Given the description of an element on the screen output the (x, y) to click on. 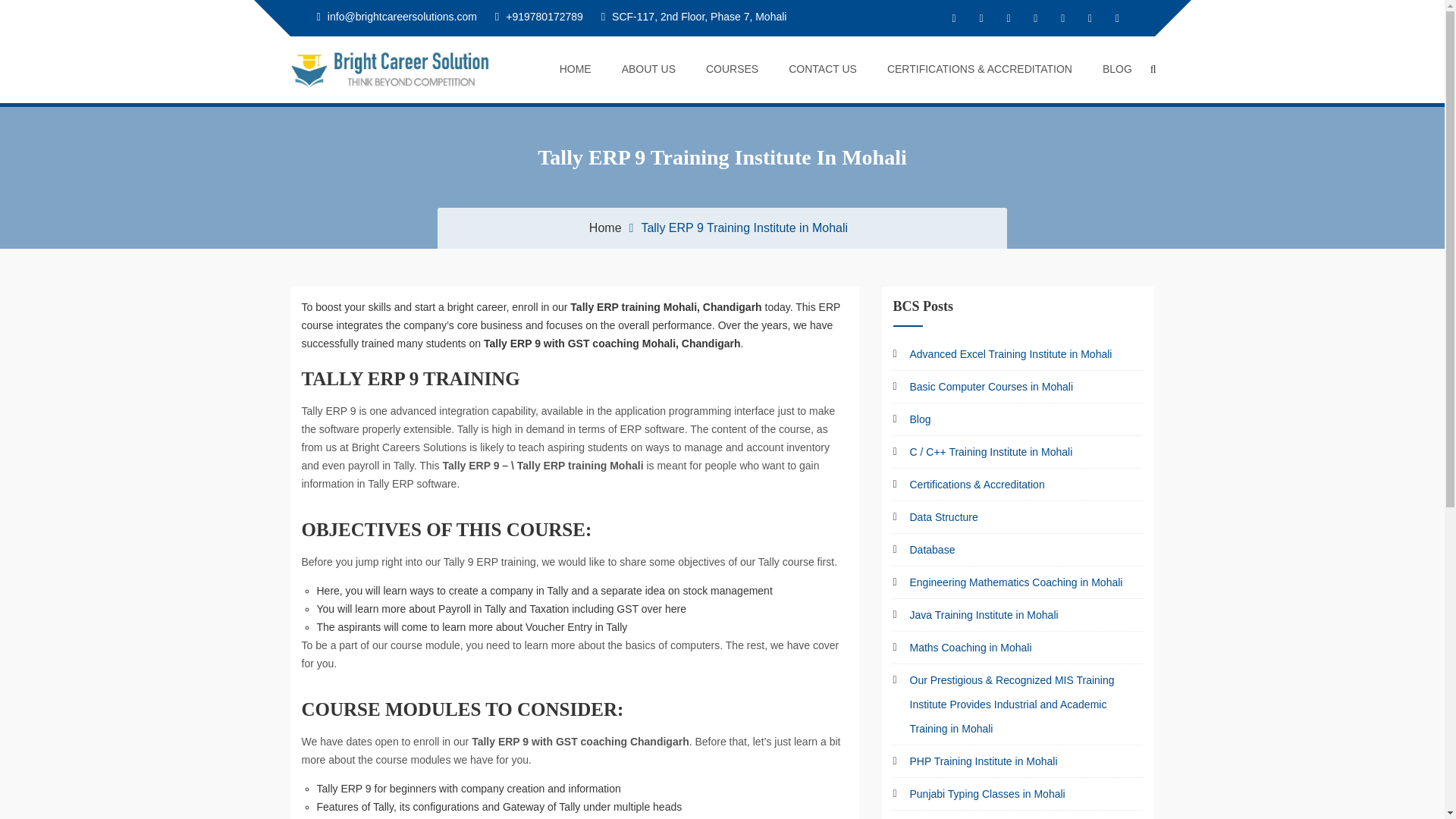
About Us (641, 69)
Basic Computer Courses in Mohali (992, 386)
ABOUT US (641, 69)
Advanced Excel Training Institute in Mohali (1011, 354)
BLOG (1109, 69)
Home (605, 227)
Home (567, 69)
Blog (920, 419)
HOME (567, 69)
Courses (724, 69)
